Given the description of an element on the screen output the (x, y) to click on. 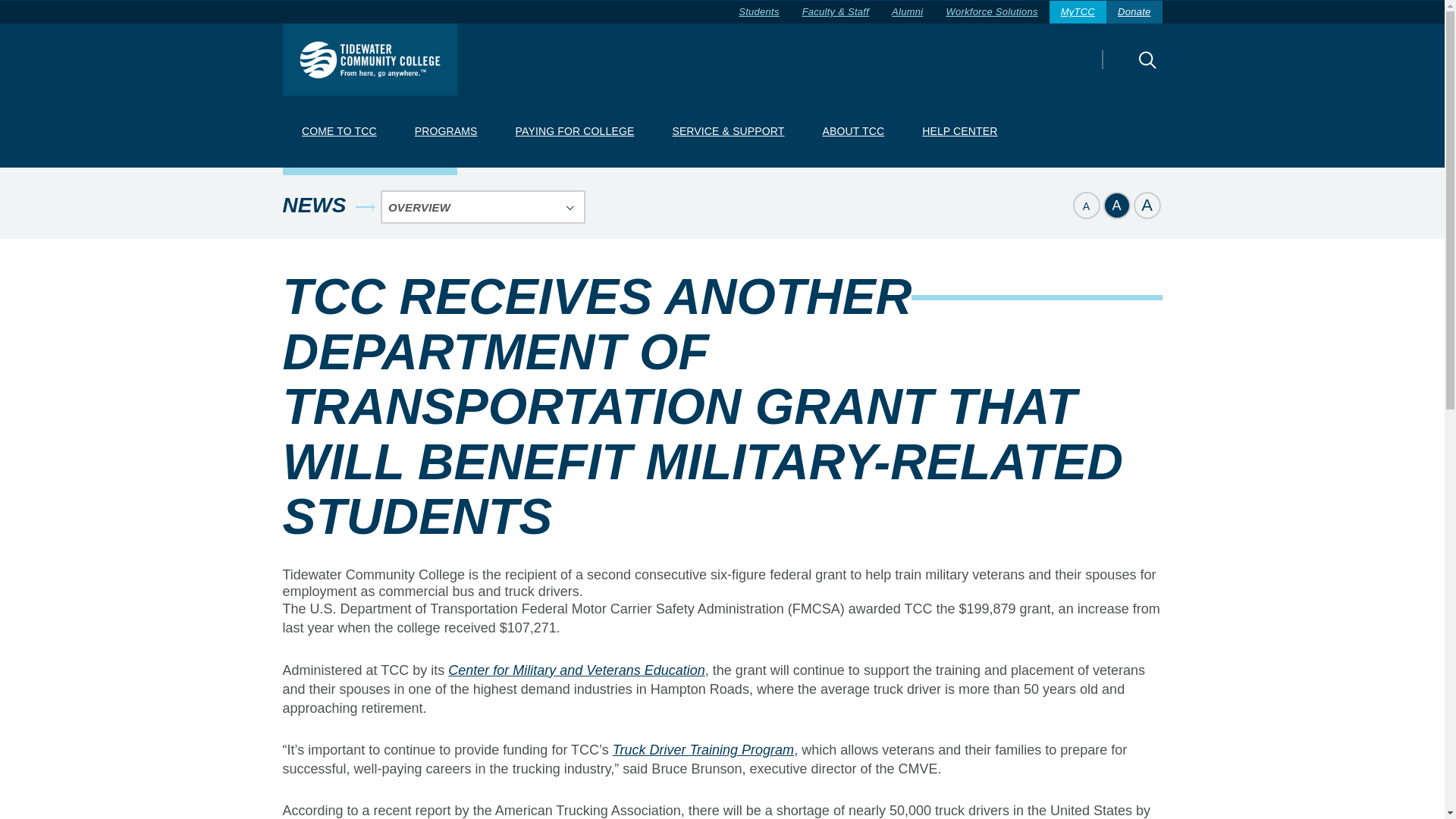
Students (758, 11)
PROGRAMS (445, 131)
PAYING FOR COLLEGE (574, 131)
Set page copy to small size (1085, 205)
Search (1119, 70)
COME TO TCC (338, 131)
Alumni (907, 11)
Set page copy to normal size (1115, 205)
Set page copy to large size (1146, 205)
Donate (1133, 11)
